Given the description of an element on the screen output the (x, y) to click on. 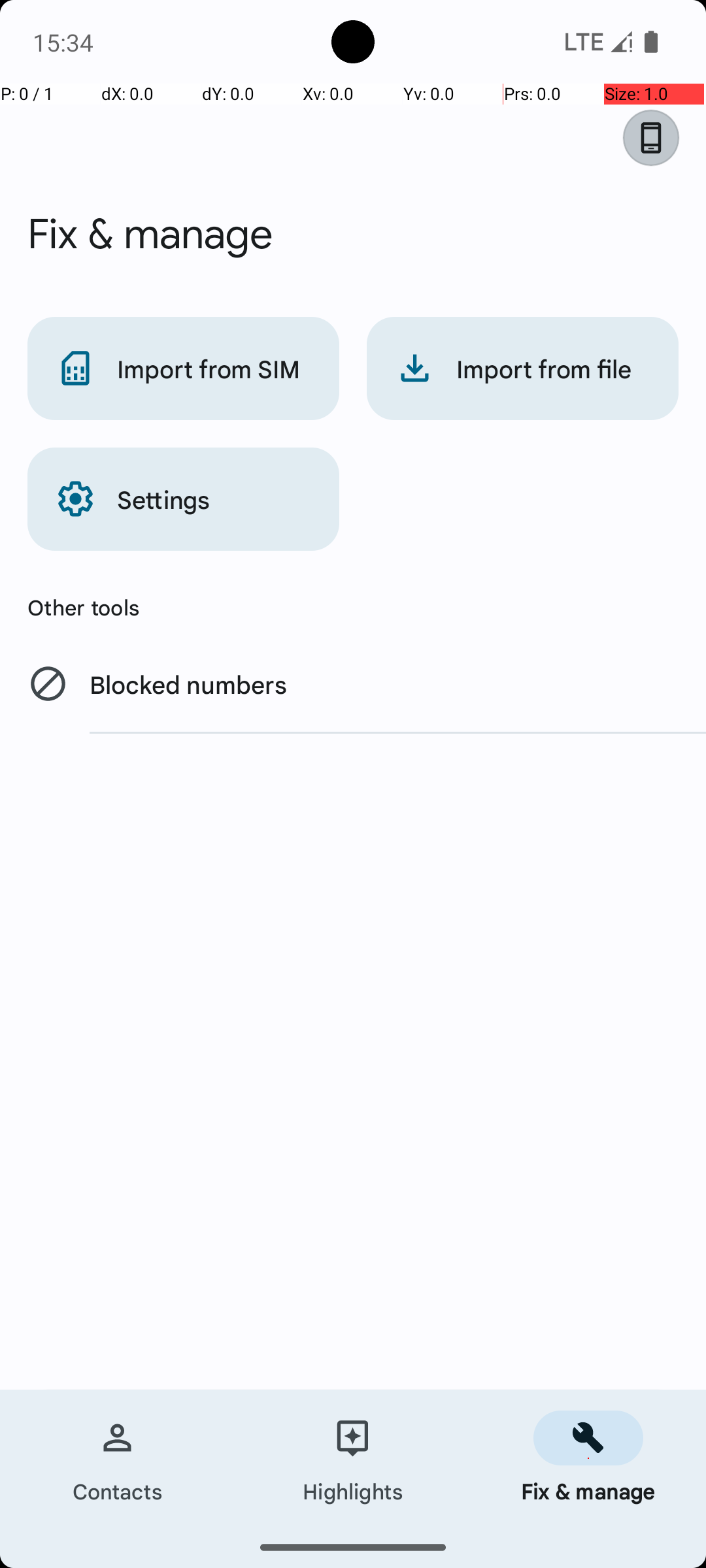
Contacts Element type: android.widget.FrameLayout (117, 1457)
Highlights Element type: android.widget.FrameLayout (352, 1457)
Fix & manage Element type: android.widget.FrameLayout (588, 1457)
Signed in as Device
Account and settings. Element type: android.widget.FrameLayout (657, 137)
Other tools Element type: android.widget.TextView (353, 606)
Import from SIM Element type: android.widget.TextView (183, 368)
Import from file Element type: android.widget.TextView (522, 368)
Blocked numbers Element type: android.widget.TextView (353, 683)
